Given the description of an element on the screen output the (x, y) to click on. 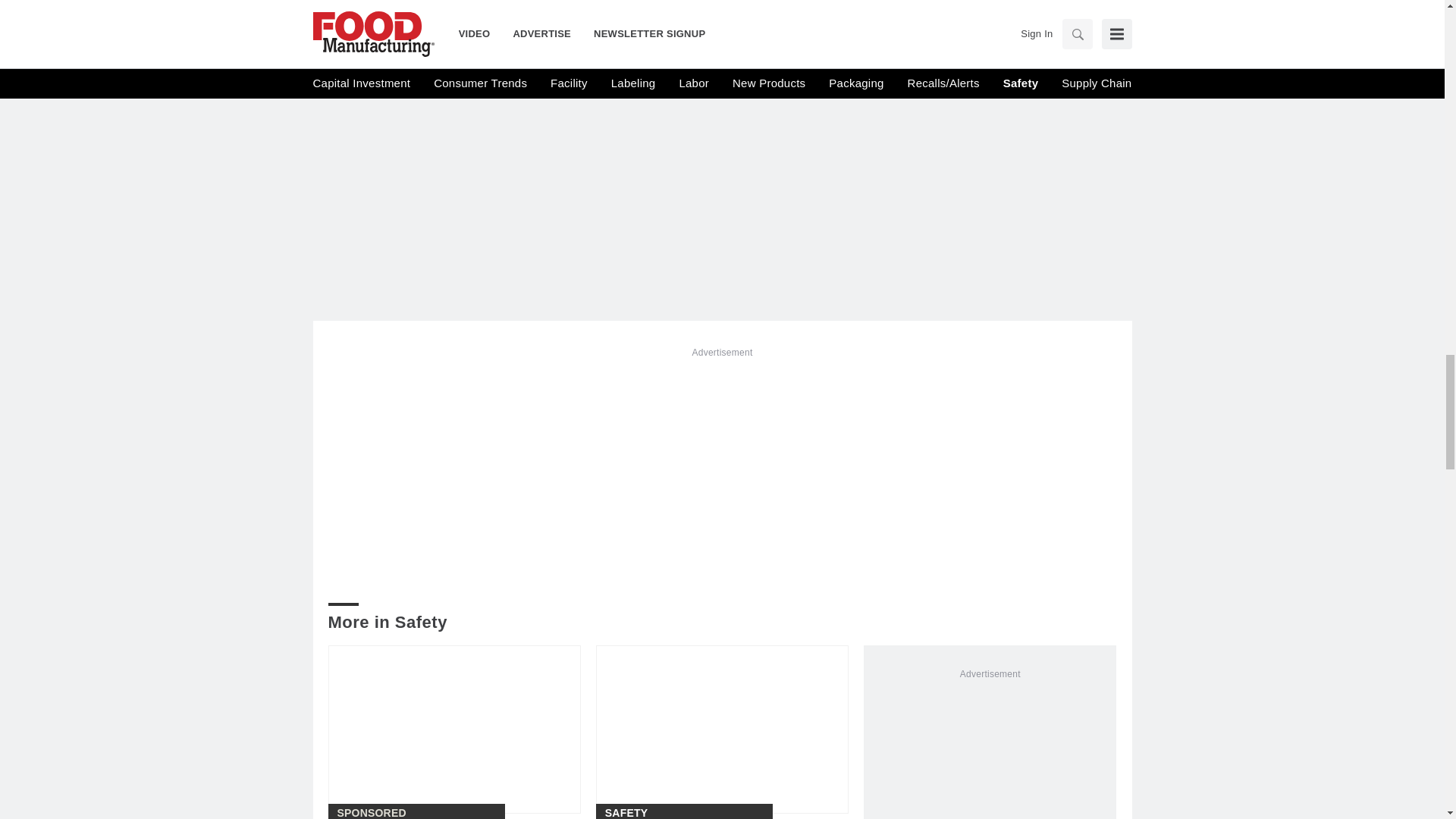
Safety (358, 7)
Safety (560, 7)
